Given the description of an element on the screen output the (x, y) to click on. 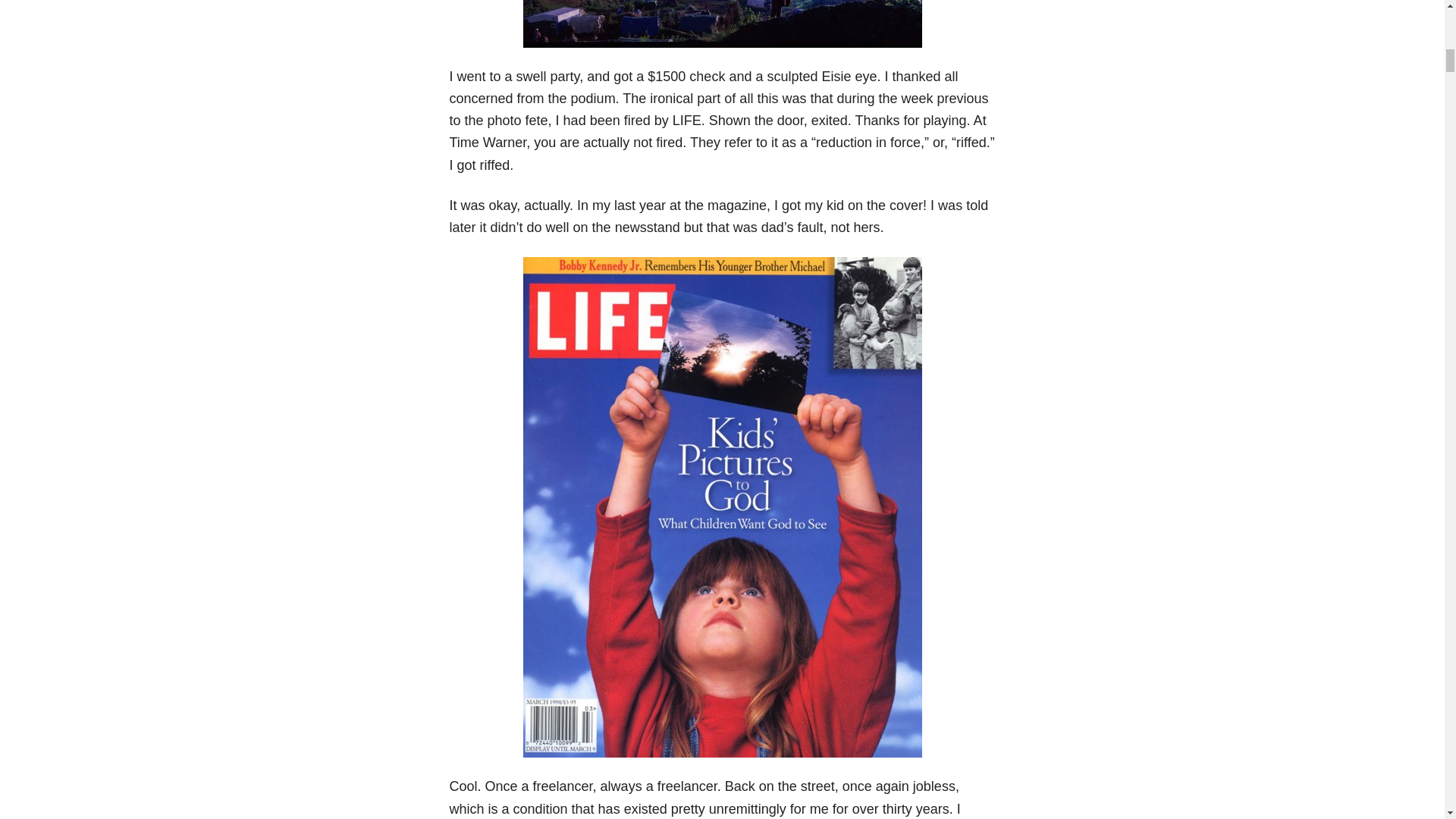
rwanda (721, 23)
